Given the description of an element on the screen output the (x, y) to click on. 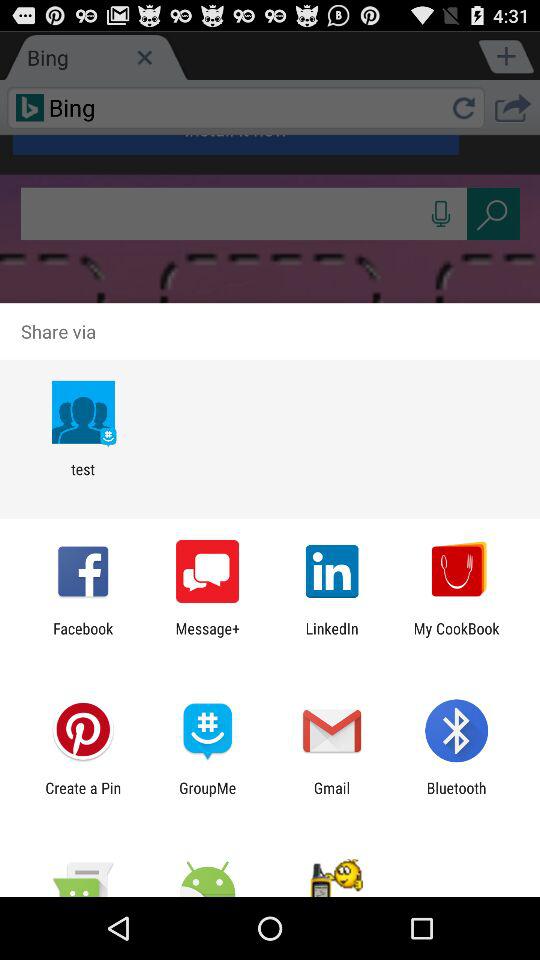
turn off icon to the left of bluetooth (331, 796)
